Given the description of an element on the screen output the (x, y) to click on. 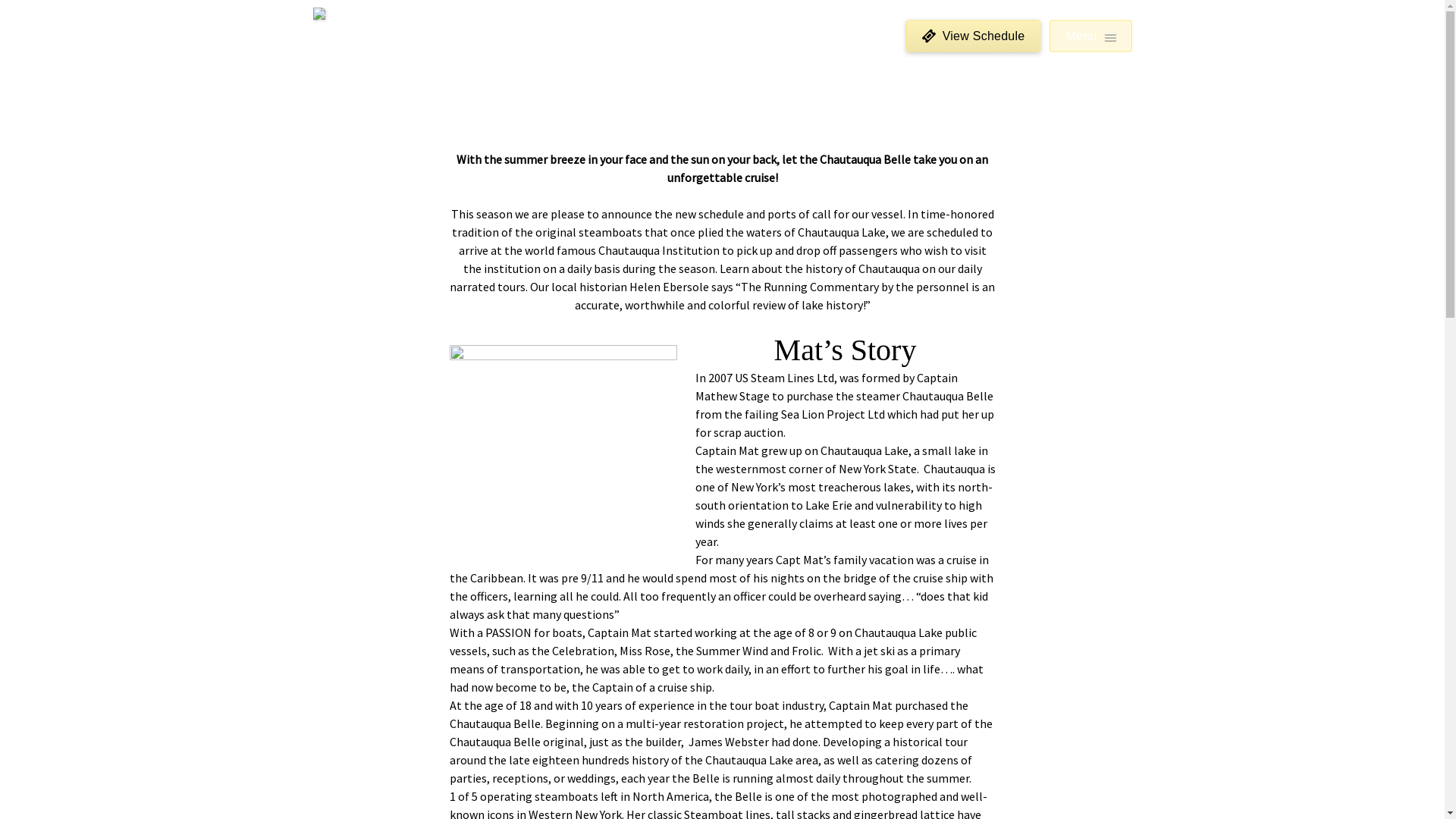
Skip to primary navigation Element type: text (76, 16)
Menu Element type: text (1090, 46)
Search Element type: text (21, 7)
Skip to footer Element type: text (43, 16)
Skip to content Element type: text (47, 16)
View Schedule Element type: text (973, 37)
